Given the description of an element on the screen output the (x, y) to click on. 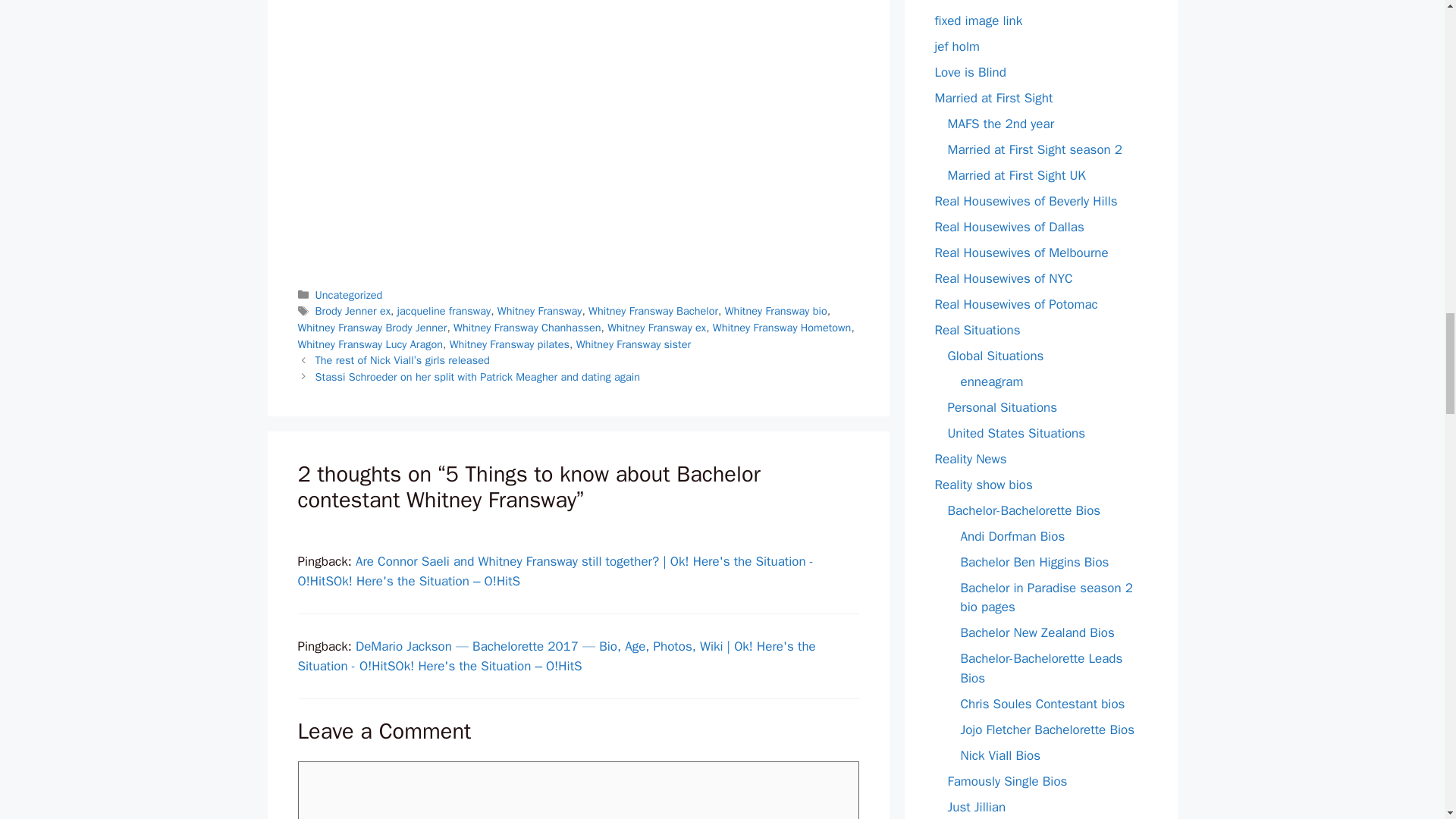
Whitney Fransway (539, 310)
Whitney Fransway Bachelor (652, 310)
Brody Jenner ex (352, 310)
jacqueline fransway (443, 310)
Uncategorized (348, 295)
